Given the description of an element on the screen output the (x, y) to click on. 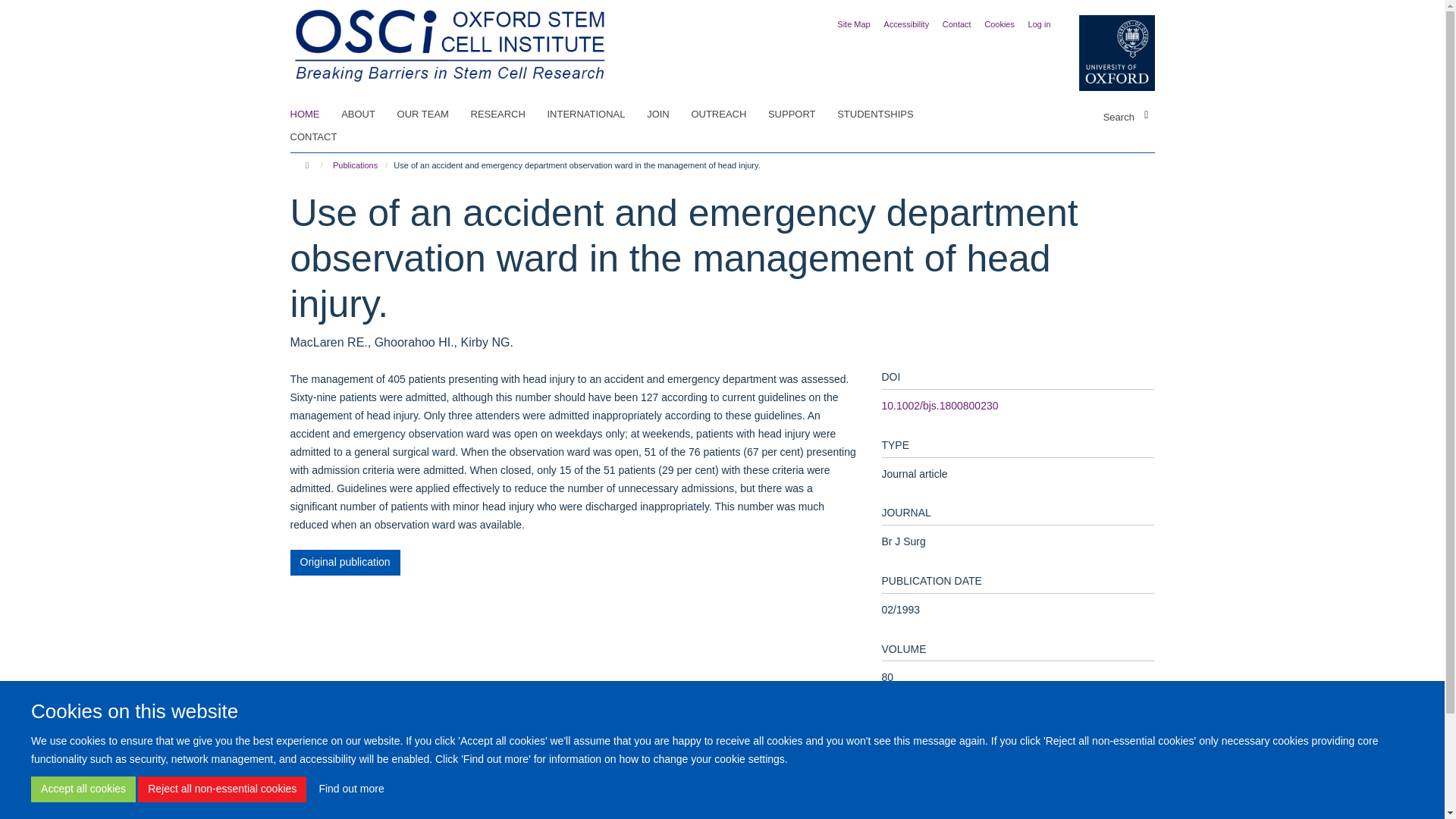
Accept all cookies (82, 789)
Reject all non-essential cookies (221, 789)
